Given the description of an element on the screen output the (x, y) to click on. 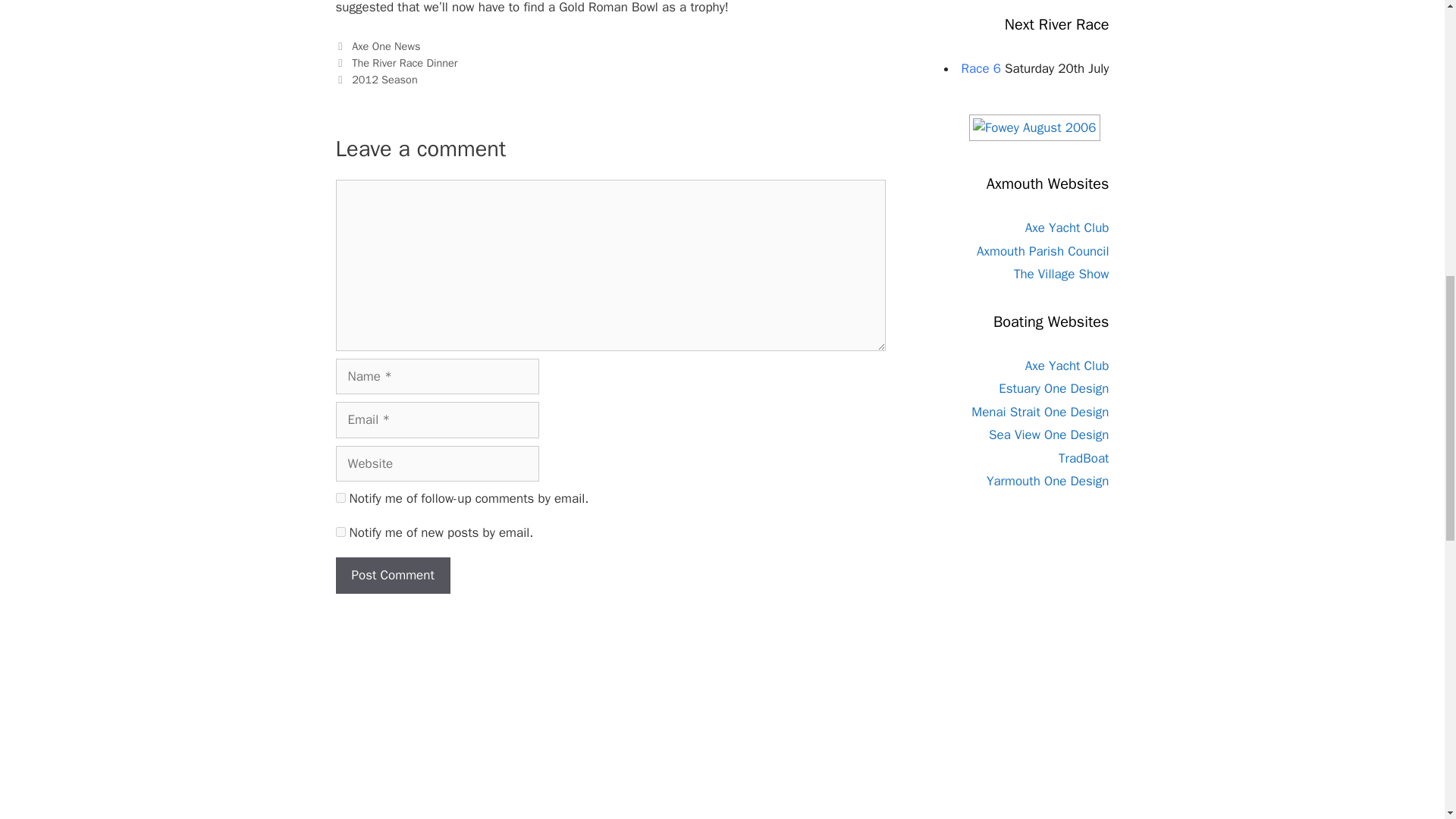
Post Comment (391, 575)
The River Race Dinner (404, 62)
Post Comment (391, 575)
Axe One News (386, 46)
2012 Season (384, 79)
subscribe (339, 497)
subscribe (339, 532)
Fowey August 2006 (1034, 126)
